Given the description of an element on the screen output the (x, y) to click on. 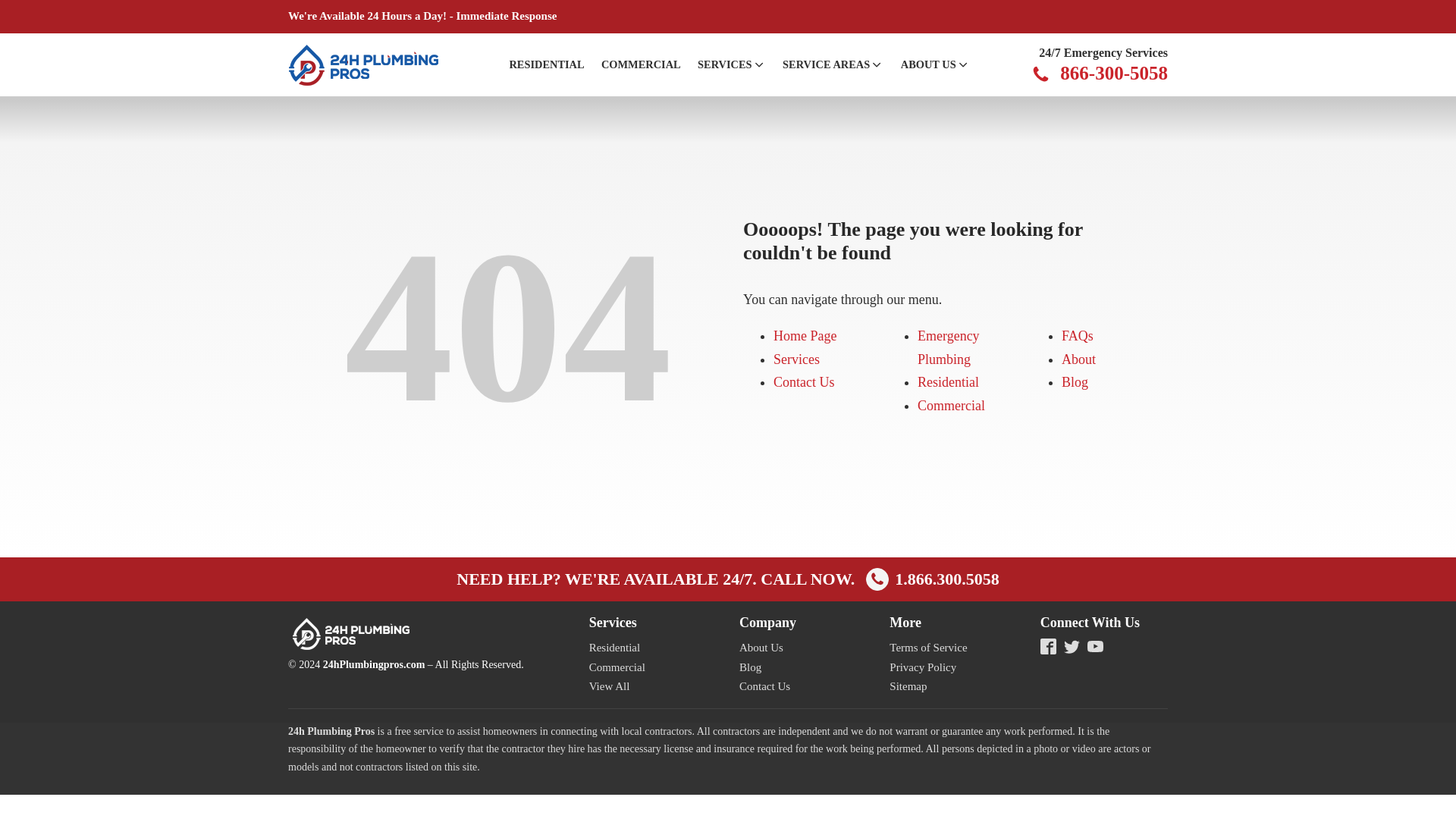
Residential (947, 381)
SERVICES (731, 65)
RESIDENTIAL (546, 65)
COMMERCIAL (640, 65)
Contact Us (803, 381)
866-300-5058 (1113, 74)
SERVICE AREAS (833, 65)
ABOUT US (935, 65)
Services (796, 359)
Home Page (804, 335)
